Given the description of an element on the screen output the (x, y) to click on. 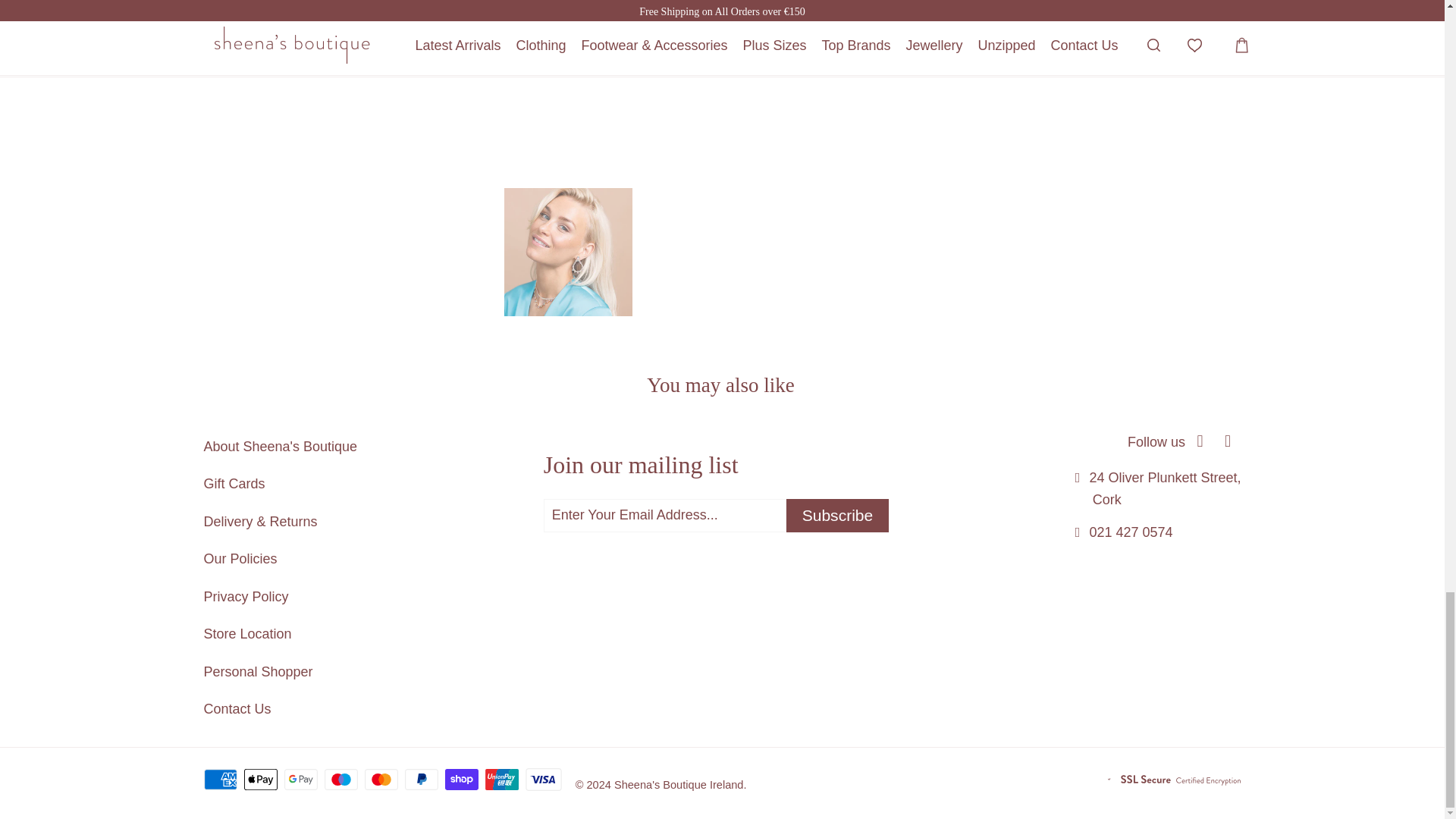
Maestro (342, 779)
PayPal (422, 779)
American Express (221, 779)
Subscribe (837, 515)
Google Pay (301, 779)
Shop Pay (463, 779)
Sheena's Boutique Ireland on Facebook (1200, 441)
Apple Pay (262, 779)
Union Pay (502, 779)
tel:021 427 0574 (1130, 531)
Visa (543, 779)
Mastercard (383, 779)
Sheena's Boutique Ireland on Instagram (1228, 441)
